Given the description of an element on the screen output the (x, y) to click on. 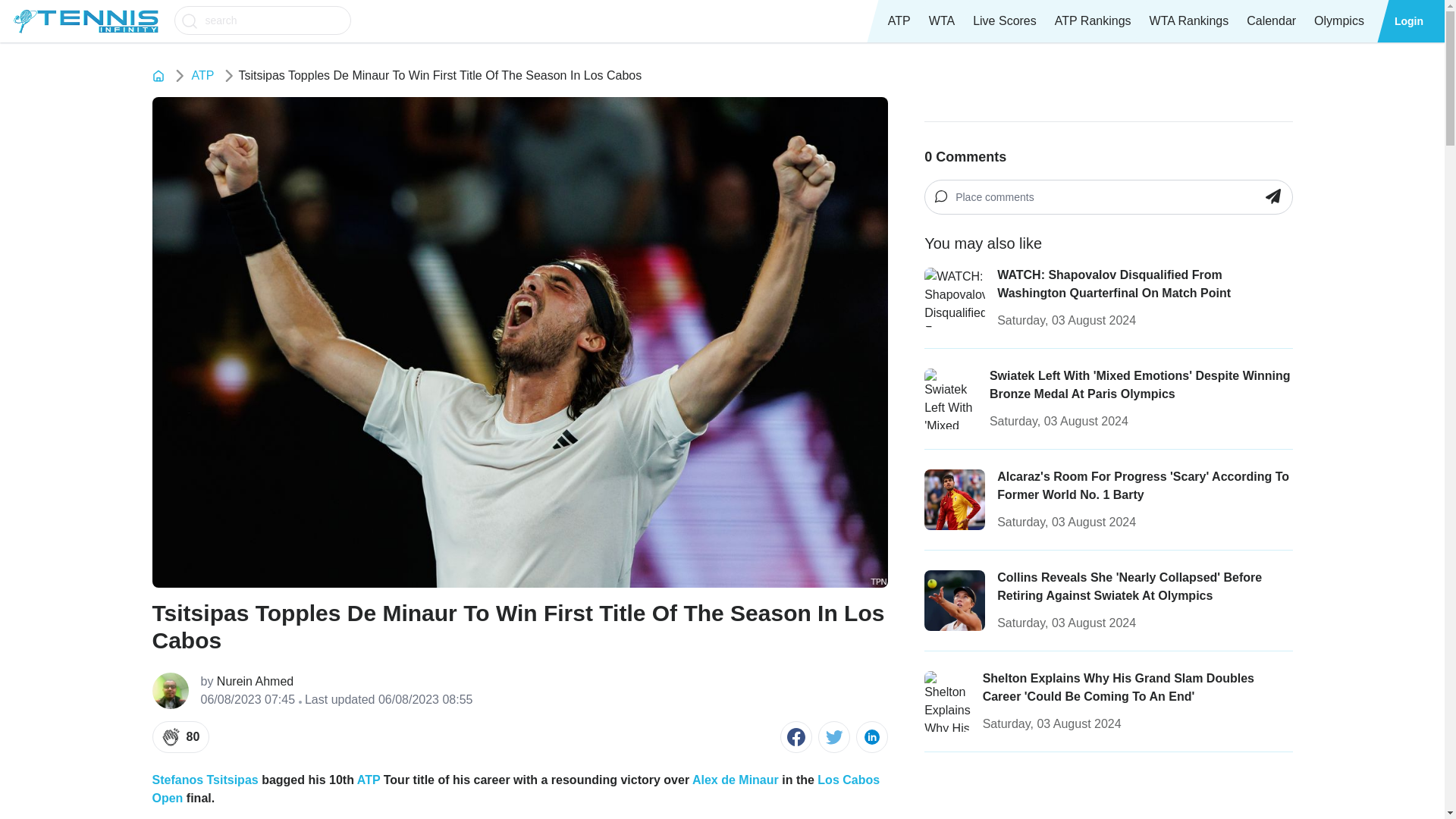
WTA Rankings (1189, 21)
Alex de Minaur (735, 779)
ATP (202, 75)
Stefanos Tsitsipas (204, 779)
Calendar (1270, 21)
ATP (899, 21)
Alex de Minaur (735, 779)
Los Cabos Open (515, 788)
ATP (368, 779)
Stefanos Tsitsipas (204, 779)
80 (180, 736)
by Nurein Ahmed (335, 681)
Olympics (1338, 21)
ATP Rankings (1092, 21)
Login (1409, 20)
